Given the description of an element on the screen output the (x, y) to click on. 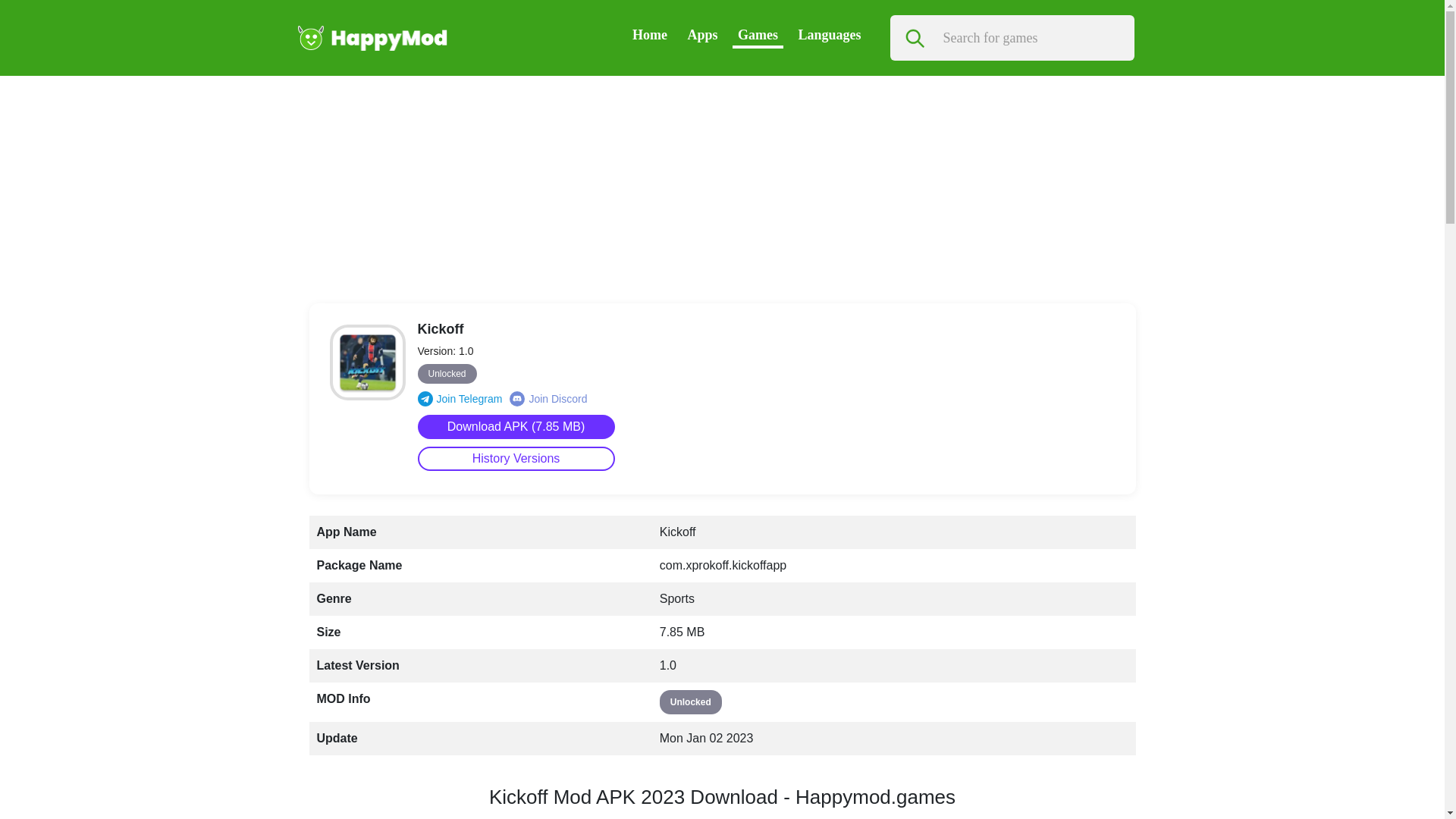
History Versions (515, 458)
Languages (828, 34)
Games (757, 34)
Apps (702, 34)
Home (648, 34)
Join Discord (547, 399)
Join Telegram (459, 399)
